Given the description of an element on the screen output the (x, y) to click on. 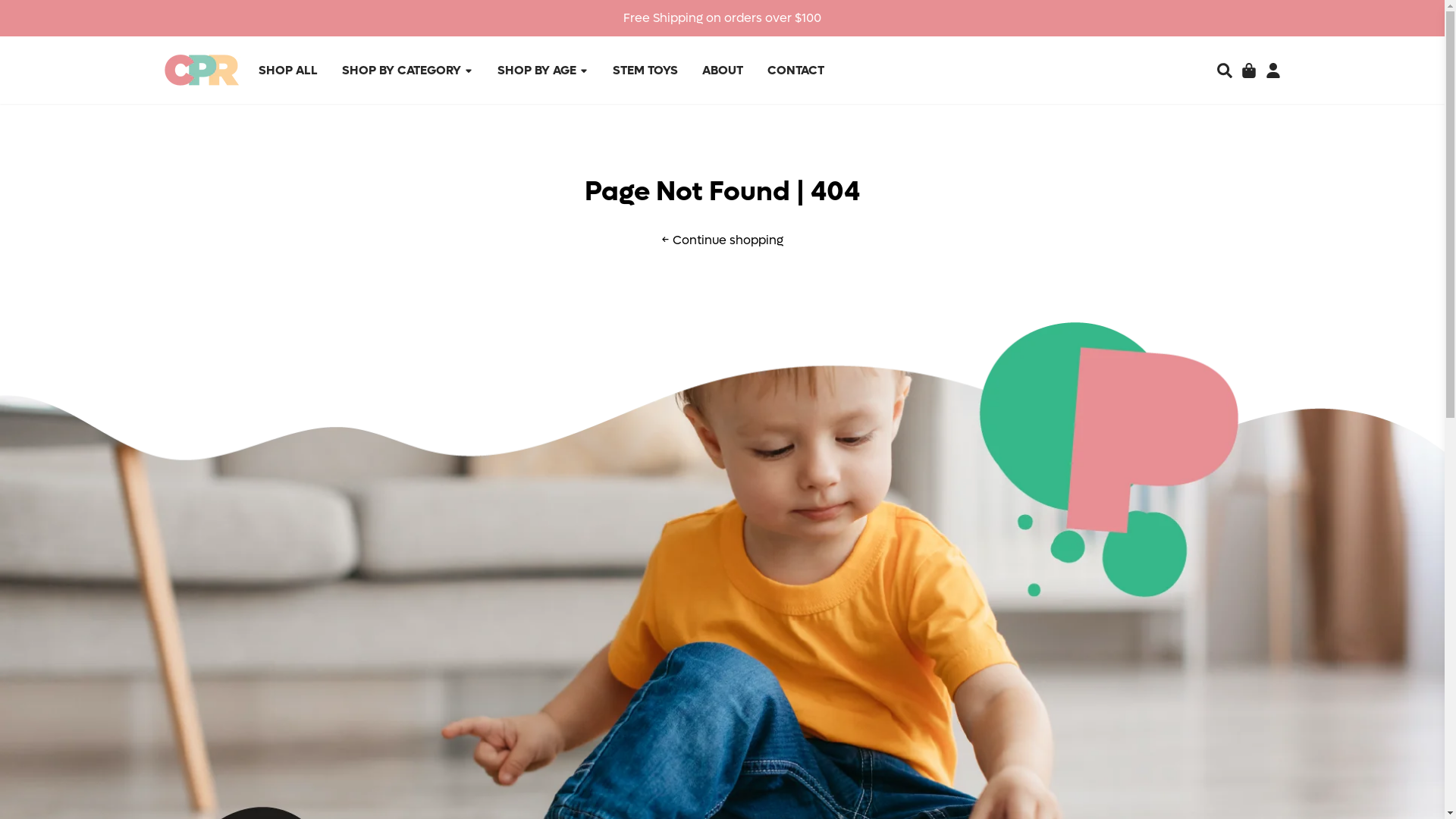
CONTACT Element type: text (795, 69)
STEM TOYS Element type: text (645, 69)
ABOUT Element type: text (722, 69)
SHOP ALL Element type: text (287, 69)
Login Element type: text (1272, 69)
Cart Element type: text (1247, 69)
